Given the description of an element on the screen output the (x, y) to click on. 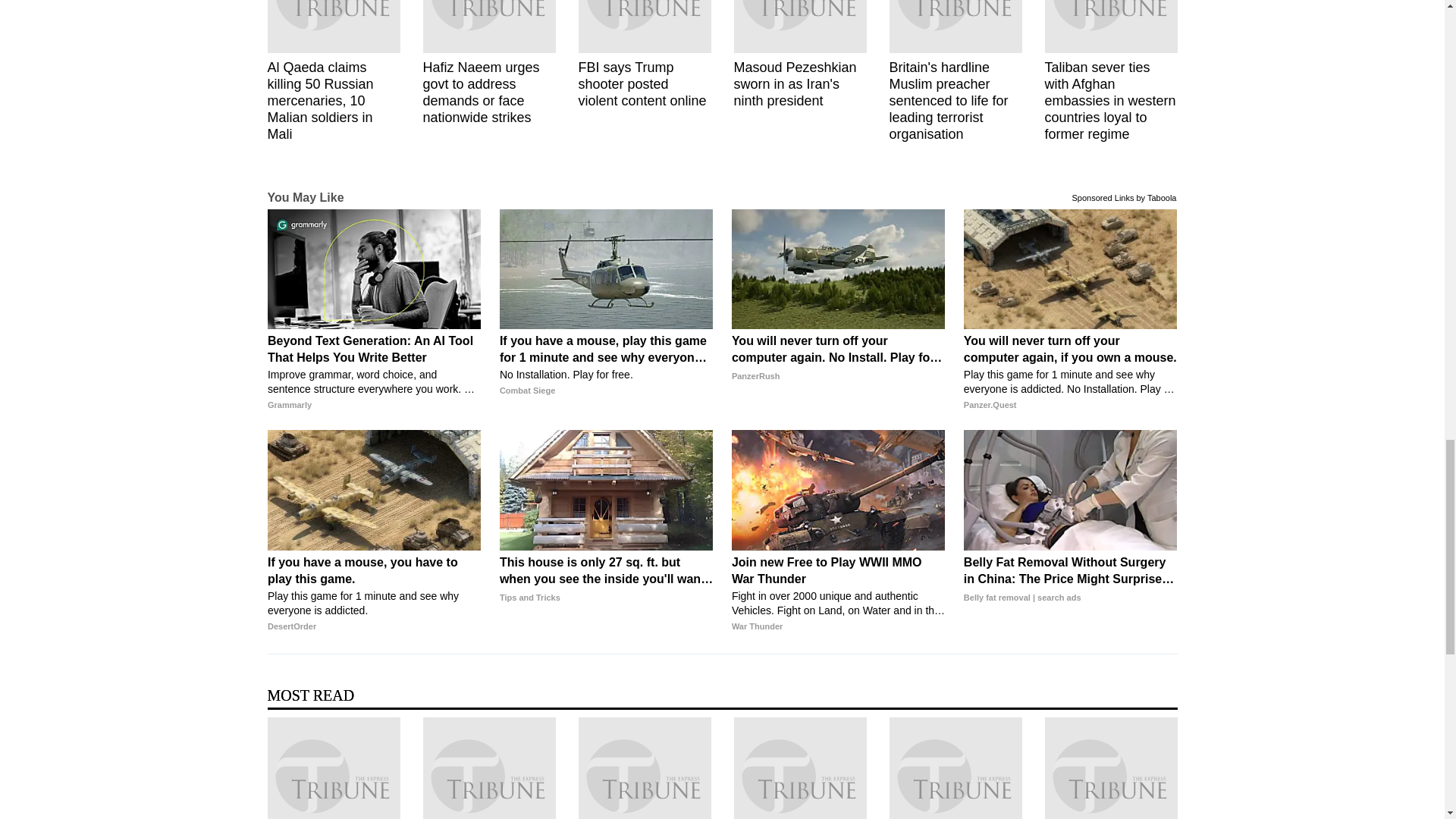
masoud pezeshkian sworn in as iran s ninth president (799, 26)
fbi says trump shooter posted violent content online (644, 26)
